Given the description of an element on the screen output the (x, y) to click on. 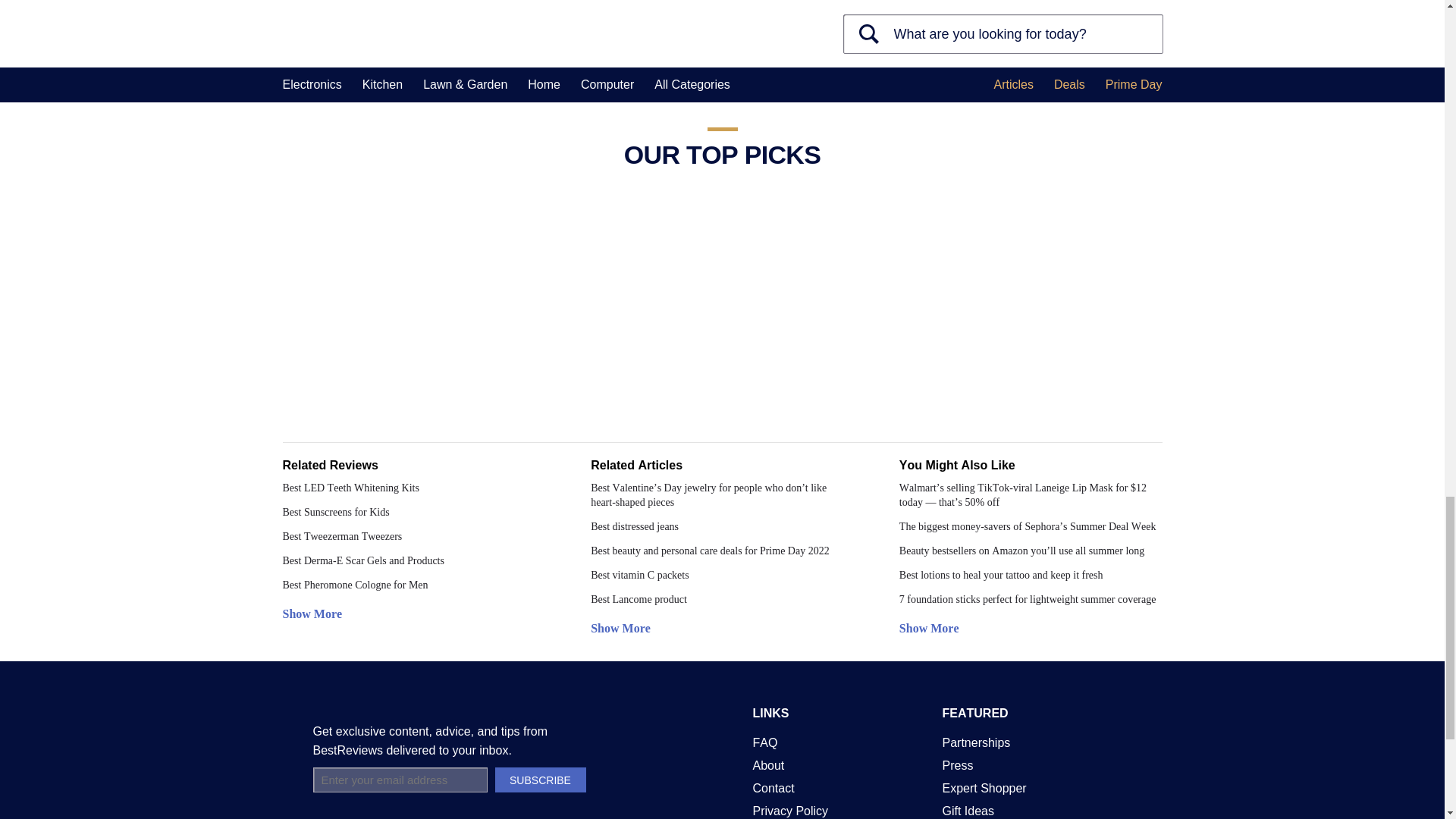
Sign up (905, 54)
Frequently asked questions (764, 742)
Subscribe email (399, 779)
Contact Us (772, 788)
Subscribe email (937, 16)
